Given the description of an element on the screen output the (x, y) to click on. 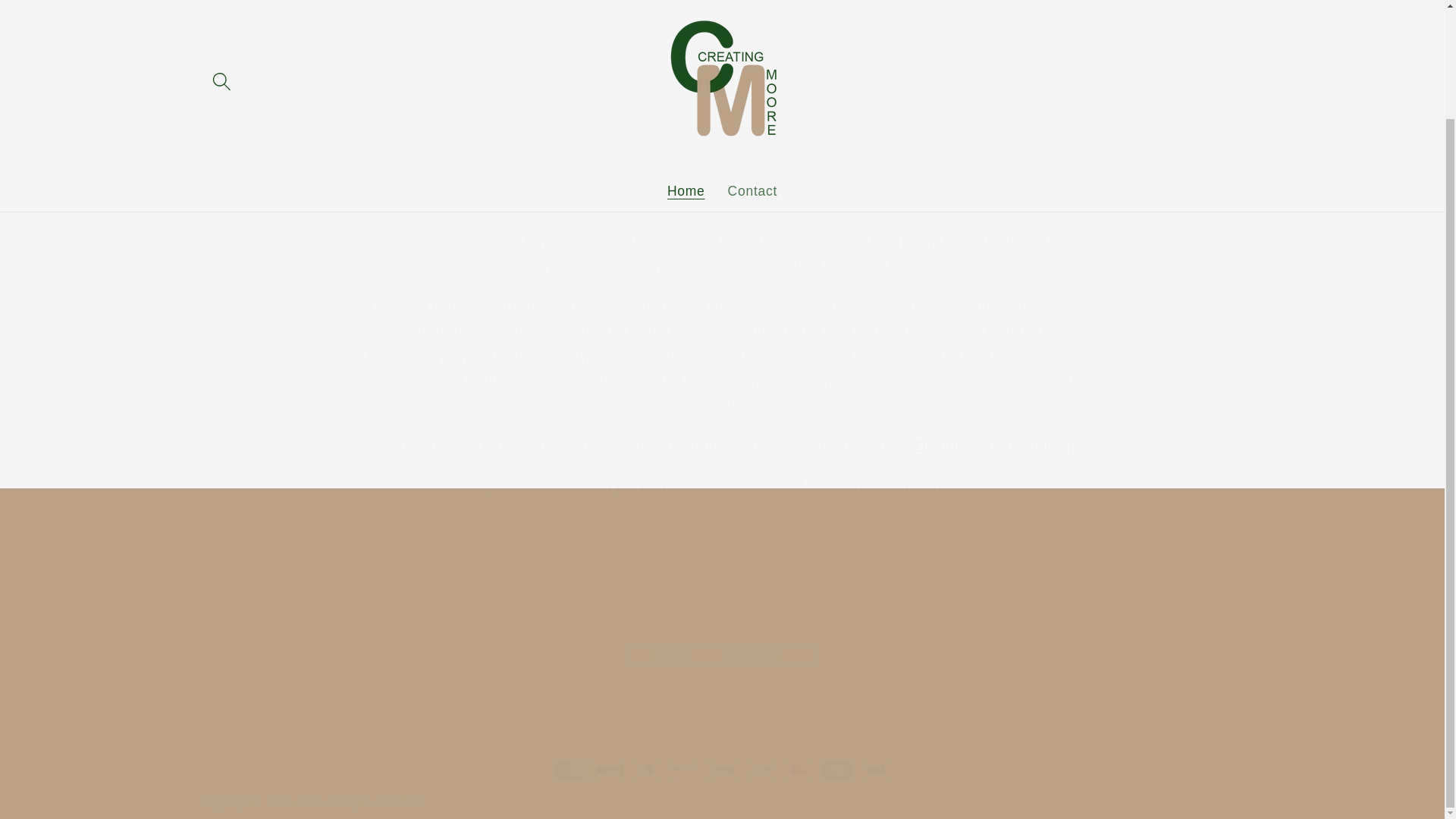
About Us (722, 184)
Steel Design Manufacturing (973, 445)
Harmony Turbines Inc.  (954, 240)
Home (686, 99)
Contact (752, 99)
